Given the description of an element on the screen output the (x, y) to click on. 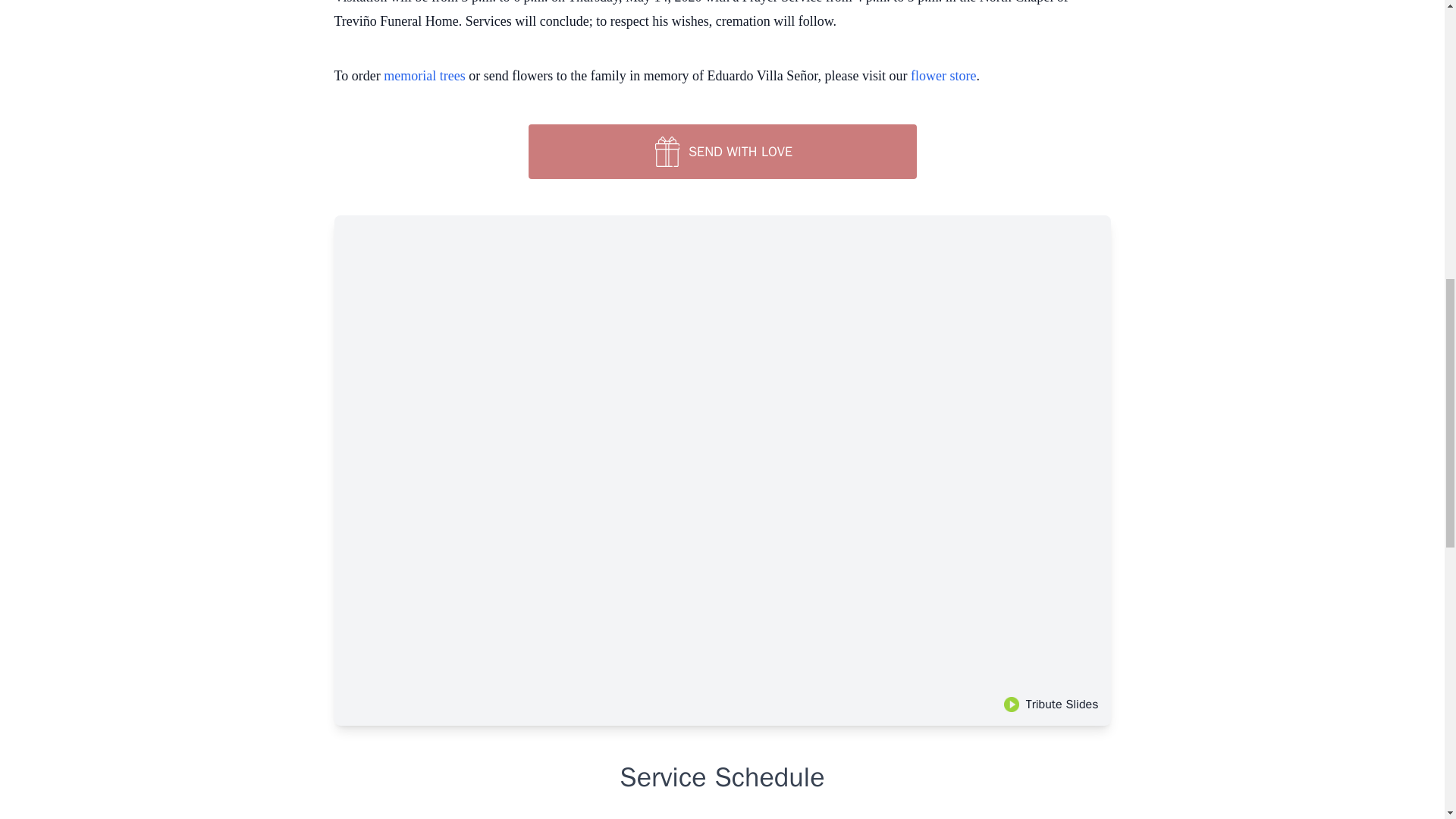
SEND WITH LOVE (721, 151)
memorial trees (424, 75)
flower store (943, 75)
